Given the description of an element on the screen output the (x, y) to click on. 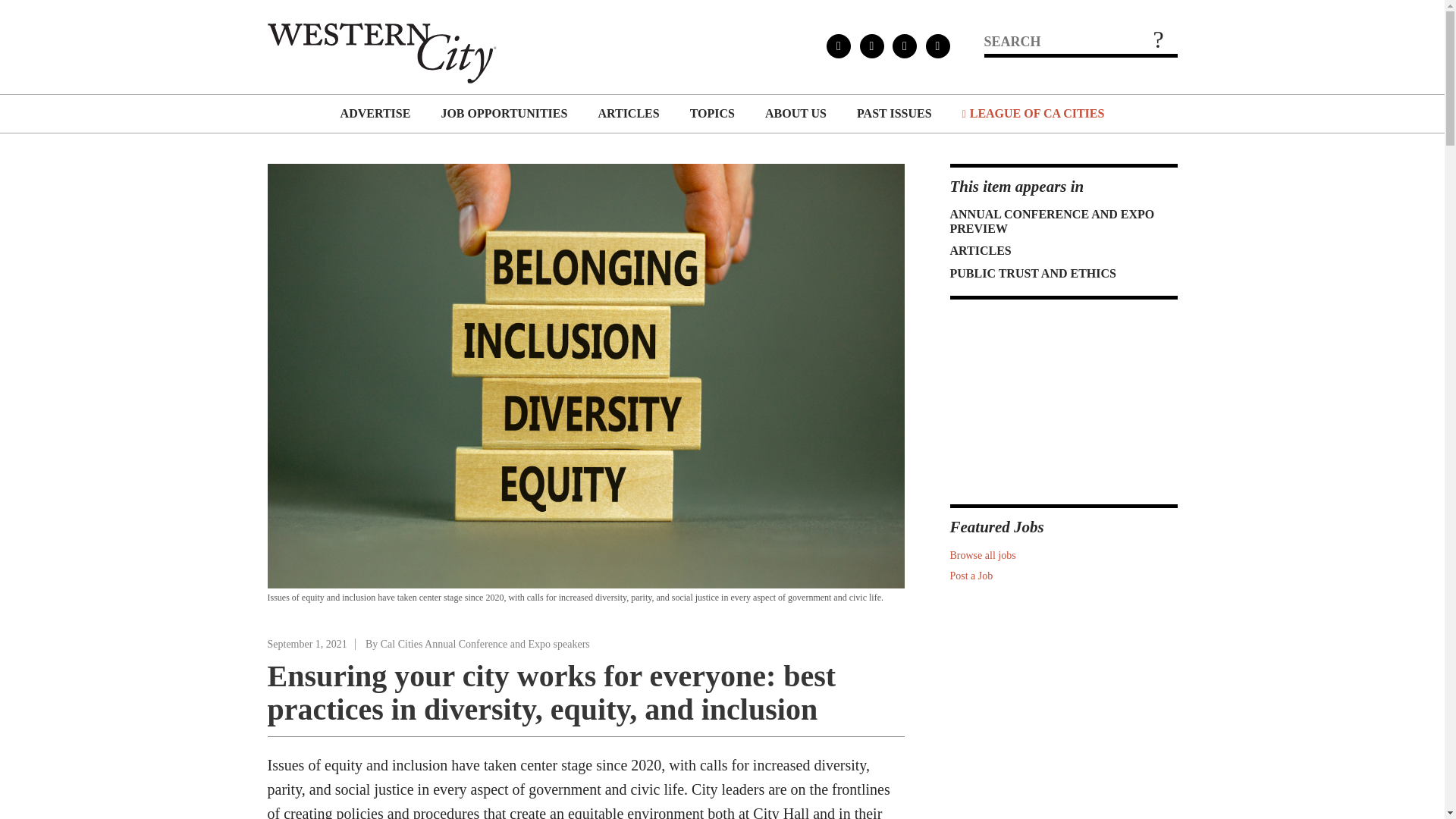
Contact (838, 46)
Linkedin (871, 46)
Skip to main content (34, 4)
Articles (627, 113)
Job Opportunities (503, 113)
Back to home (381, 47)
JOB OPPORTUNITIES (503, 113)
Advertise (375, 113)
ARTICLES (627, 113)
Twitter (904, 46)
Search keywords (1080, 41)
ADVERTISE (375, 113)
Facebook (936, 46)
